Given the description of an element on the screen output the (x, y) to click on. 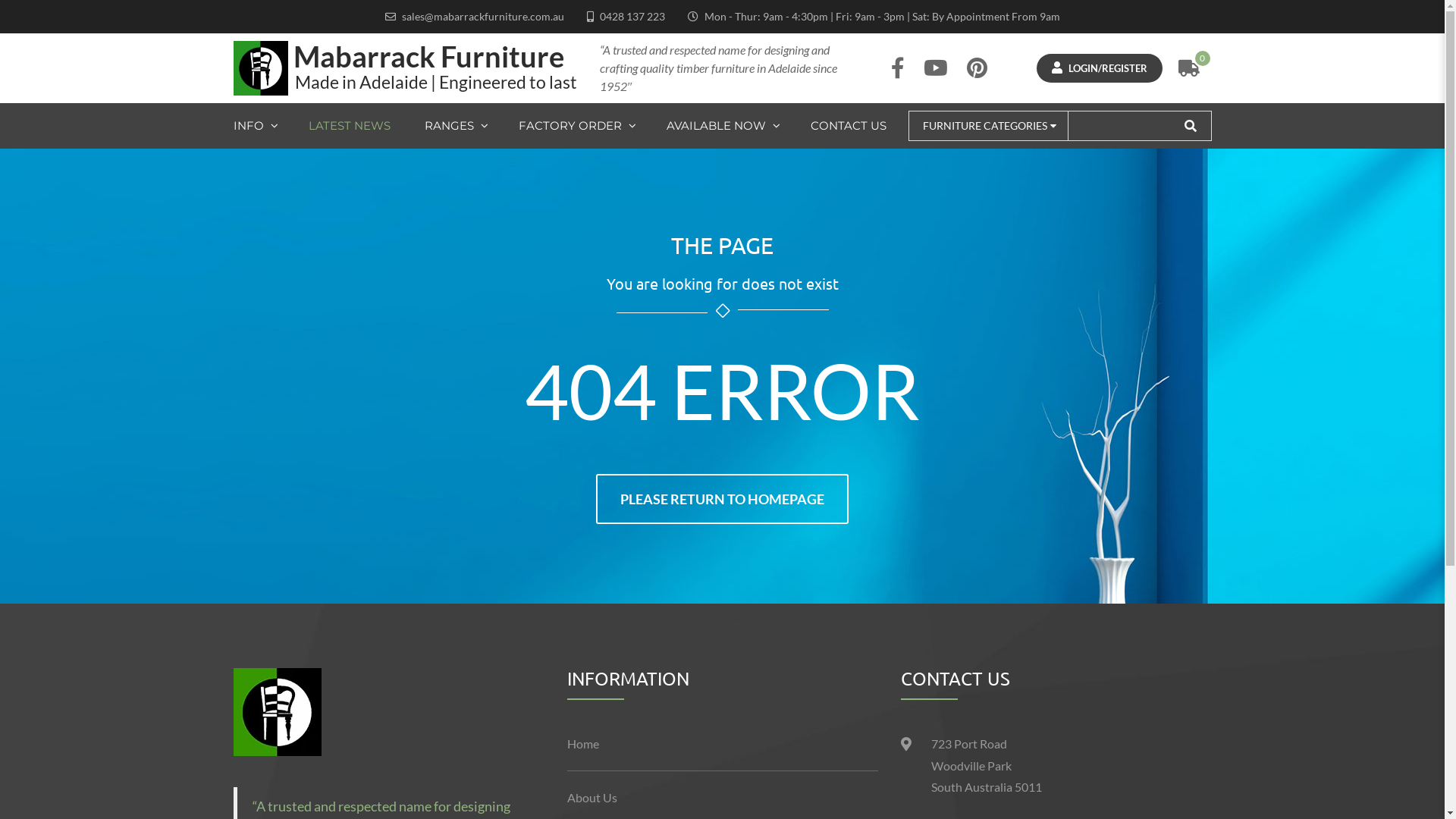
LOGIN/REGISTER Element type: text (1098, 67)
sales@mabarrackfurniture.com.au Element type: text (482, 15)
FACTORY ORDER Element type: text (577, 125)
INFO Element type: text (263, 125)
Home Element type: text (722, 744)
LATEST NEWS Element type: text (350, 125)
0 Element type: text (1188, 68)
Mabarrack Furniture
Made in Adelaide | Engineered to last Element type: text (405, 68)
MabarrackFurnitureLogo Element type: hover (277, 712)
AVAILABLE NOW Element type: text (722, 125)
CONTACT US Element type: text (849, 125)
PLEASE RETURN TO HOMEPAGE Element type: text (722, 498)
723 Port Road
Woodville Park
South Australia 5011 Element type: text (986, 765)
0428 137 223 Element type: text (631, 15)
RANGES Element type: text (456, 125)
